Given the description of an element on the screen output the (x, y) to click on. 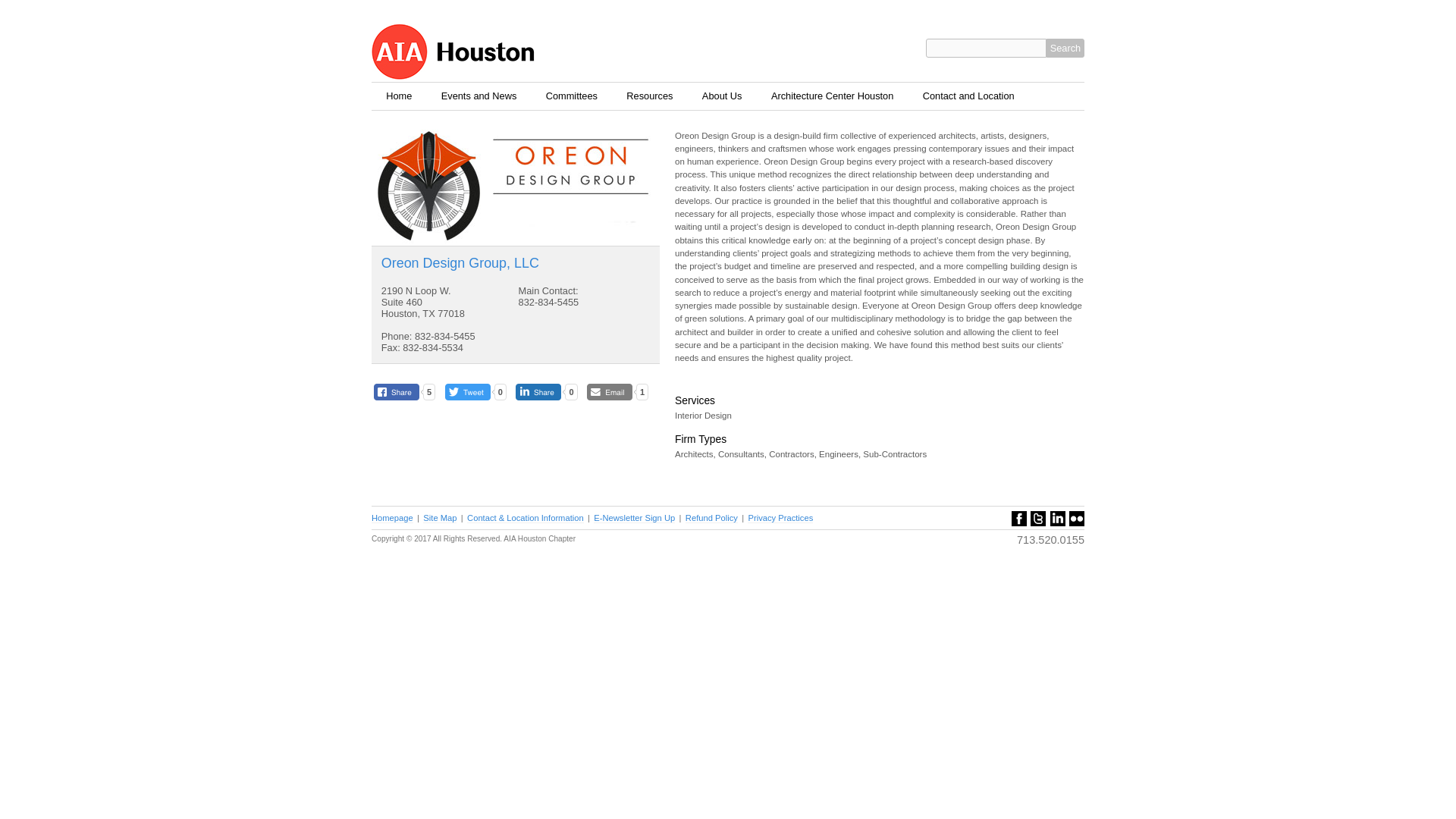
Home (398, 95)
Search (1065, 47)
Search (1065, 47)
